Given the description of an element on the screen output the (x, y) to click on. 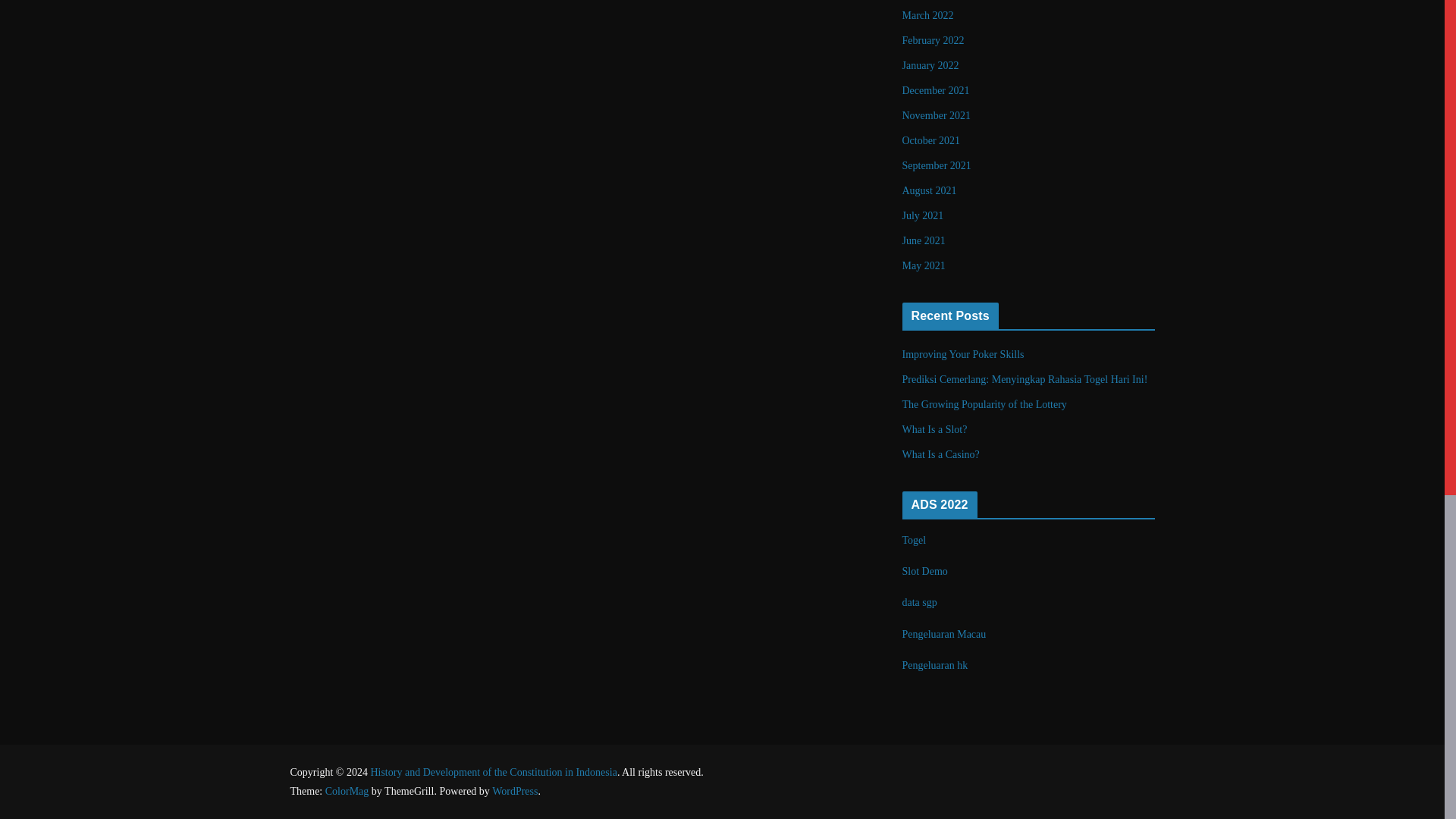
ColorMag (346, 790)
History and Development of the Constitution in Indonesia (492, 772)
WordPress (514, 790)
